Given the description of an element on the screen output the (x, y) to click on. 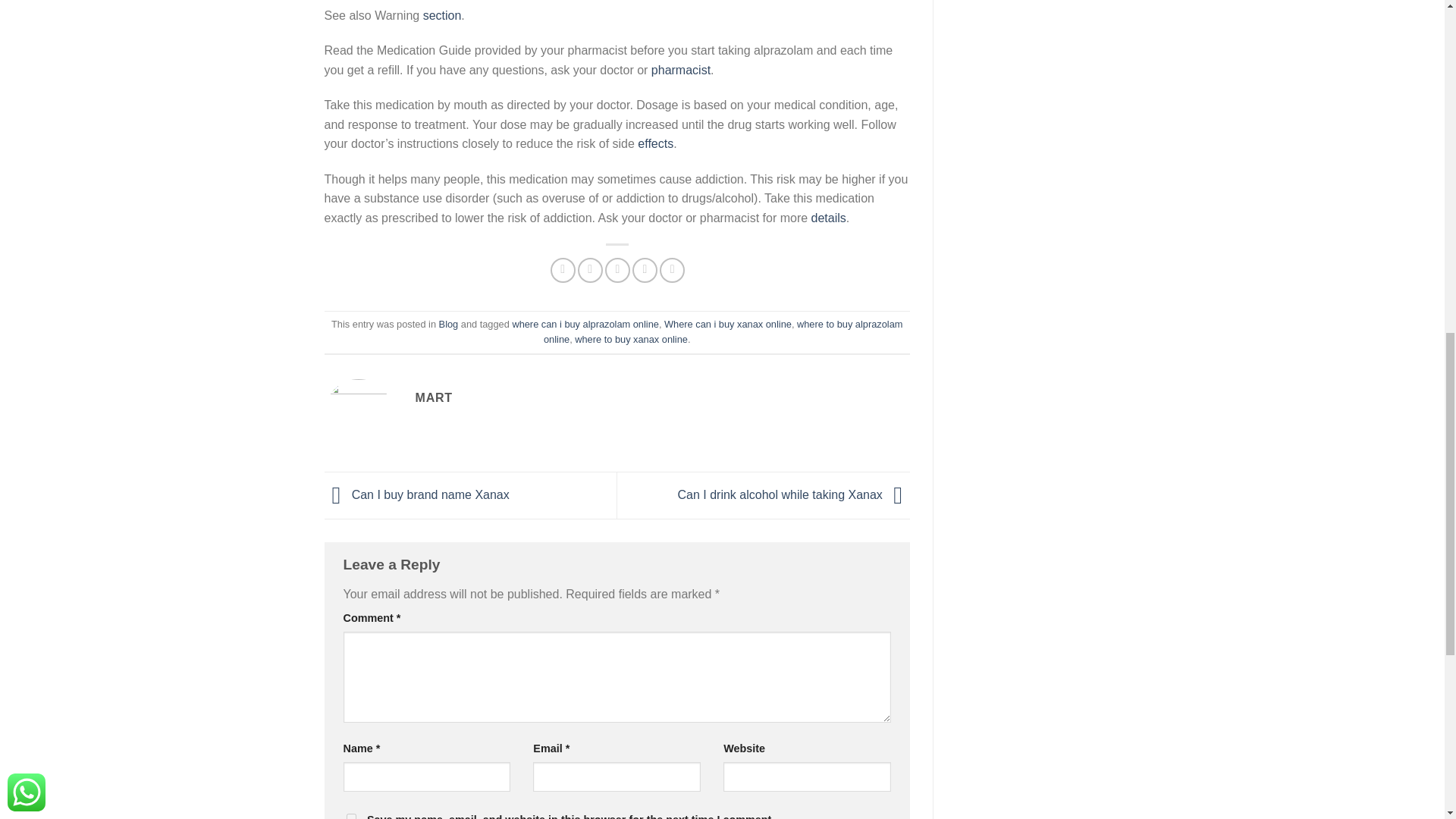
section (442, 15)
details (827, 217)
yes (350, 816)
pharmacist (680, 69)
effects (654, 143)
